Given the description of an element on the screen output the (x, y) to click on. 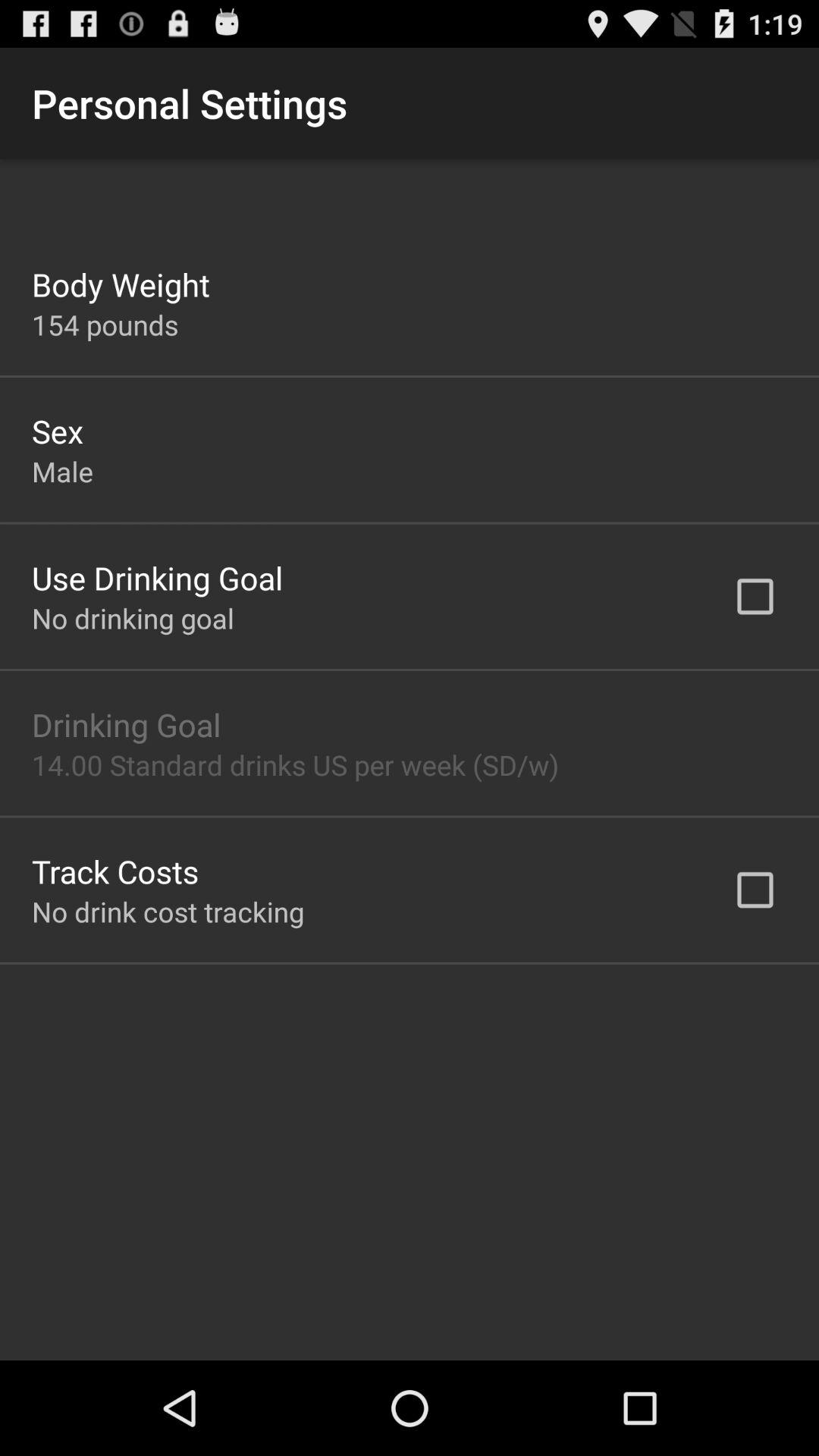
launch the icon at the center (295, 764)
